Given the description of an element on the screen output the (x, y) to click on. 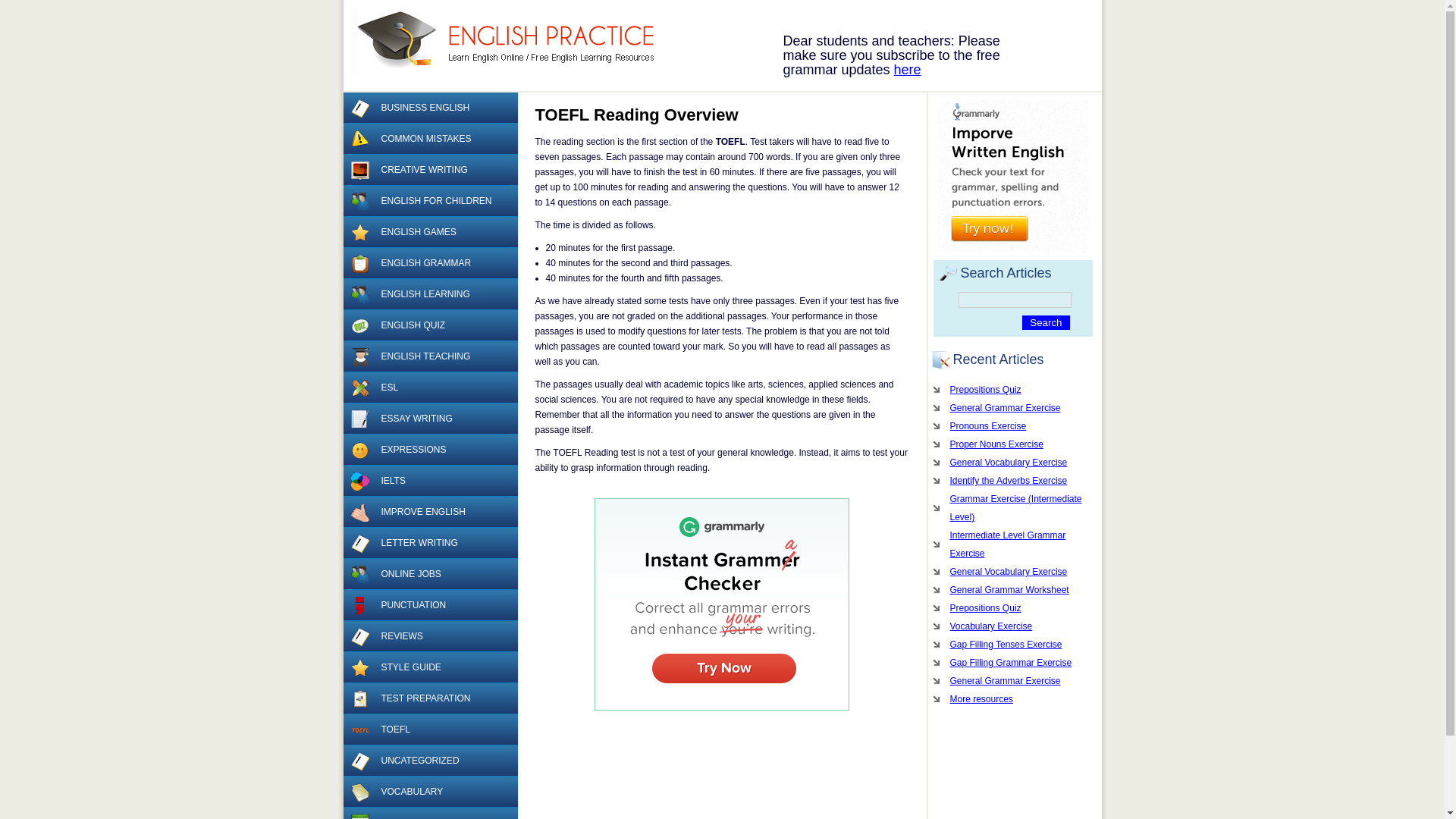
ONLINE JOBS (429, 573)
Creative Writing (359, 170)
English for children (359, 201)
Search (1045, 322)
UNCATEGORIZED (429, 760)
EXPRESSIONS (429, 450)
Search (1045, 322)
COMMON MISTAKES (429, 138)
ESL (429, 387)
Expressions (359, 450)
ENGLISH LEARNING (429, 294)
ENGLISH GAMES (429, 232)
ENGLISH QUIZ (429, 325)
CREATIVE WRITING (429, 169)
Pronouns Exercise (1012, 425)
